Given the description of an element on the screen output the (x, y) to click on. 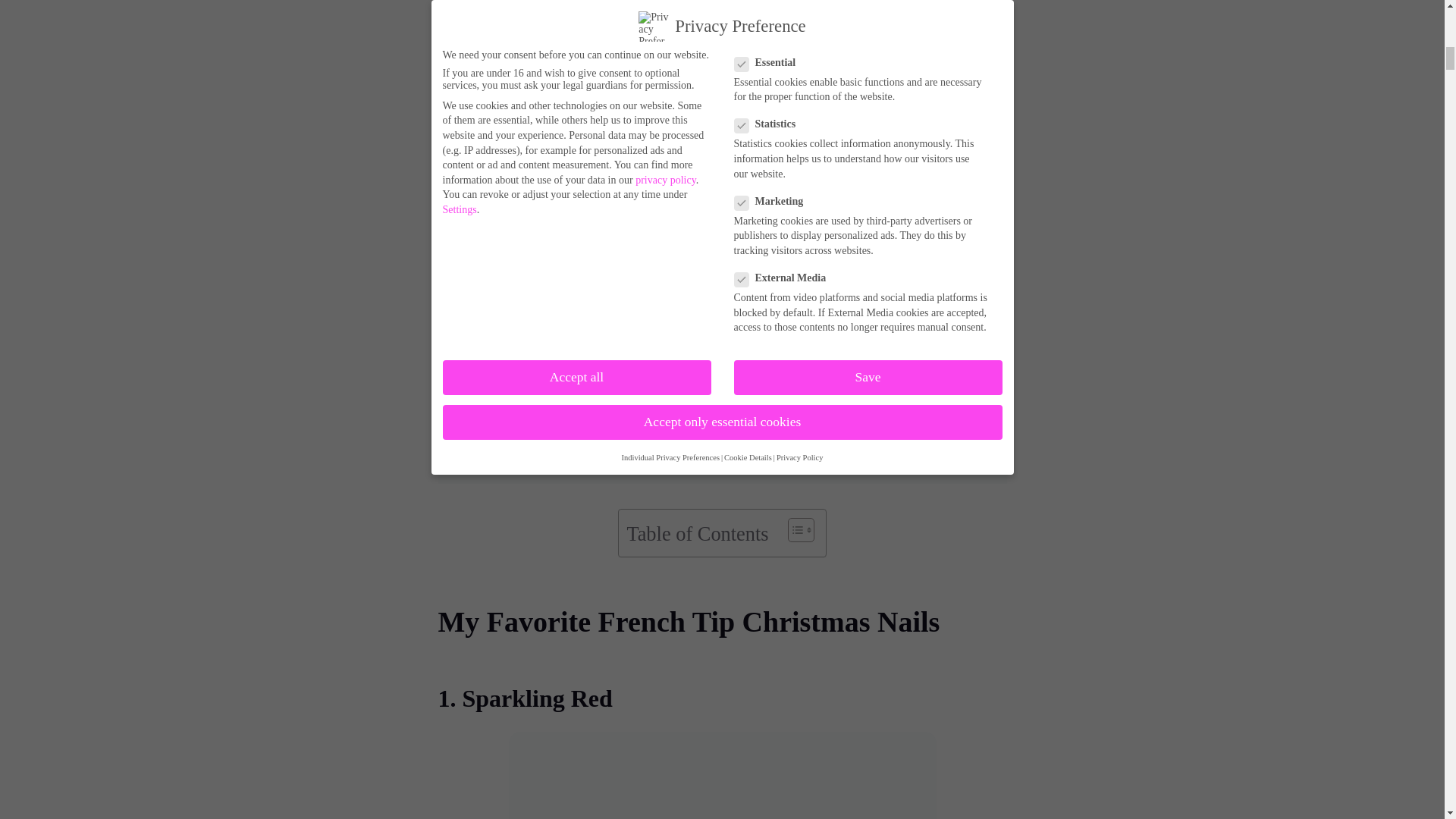
1 (673, 358)
